Given the description of an element on the screen output the (x, y) to click on. 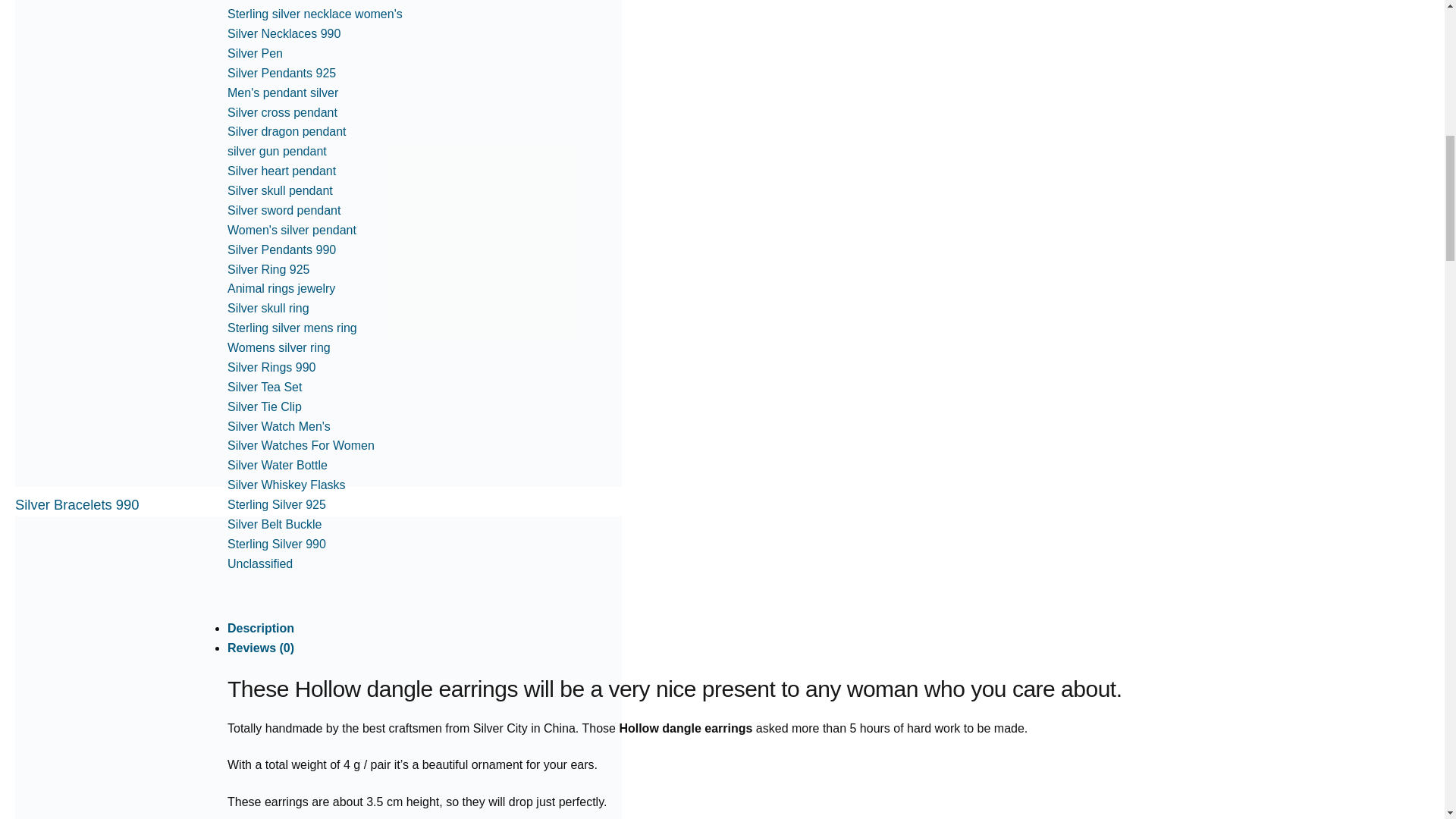
Silver Bracelets 990 (76, 504)
